Given the description of an element on the screen output the (x, y) to click on. 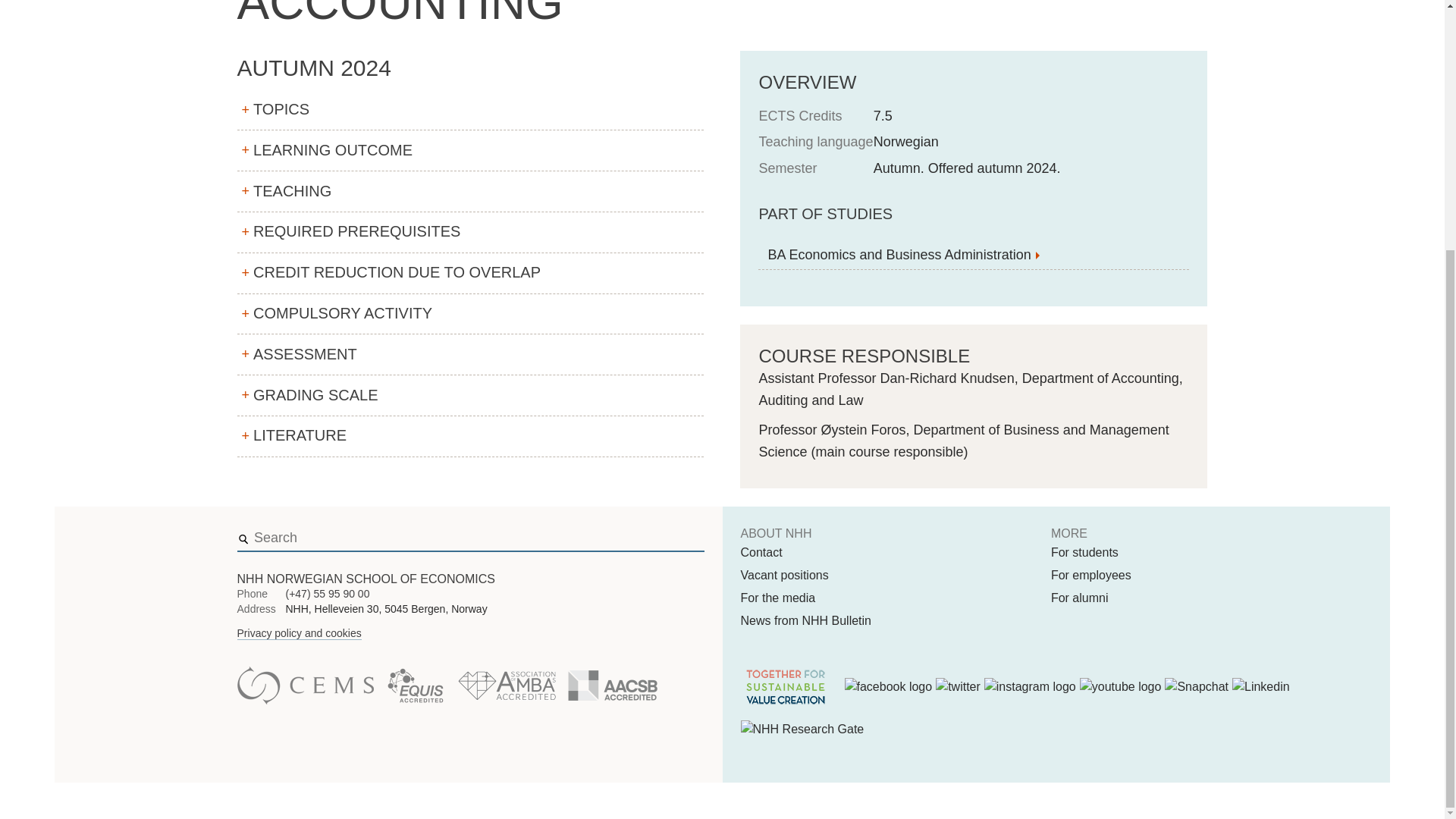
For students (1084, 552)
COMPULSORY ACTIVITY (469, 314)
Vacant positions (783, 575)
LEARNING OUTCOME (469, 150)
ASSESSMENT (469, 354)
Contact (760, 552)
TEACHING (469, 191)
BA Economics and Business Administration (973, 254)
News from NHH Bulletin (804, 620)
TOPICS (469, 110)
For alumni (1079, 598)
Privacy policy and cookies (299, 633)
LITERATURE (469, 436)
REQUIRED PREREQUISITES (469, 232)
GRADING SCALE (469, 395)
